Given the description of an element on the screen output the (x, y) to click on. 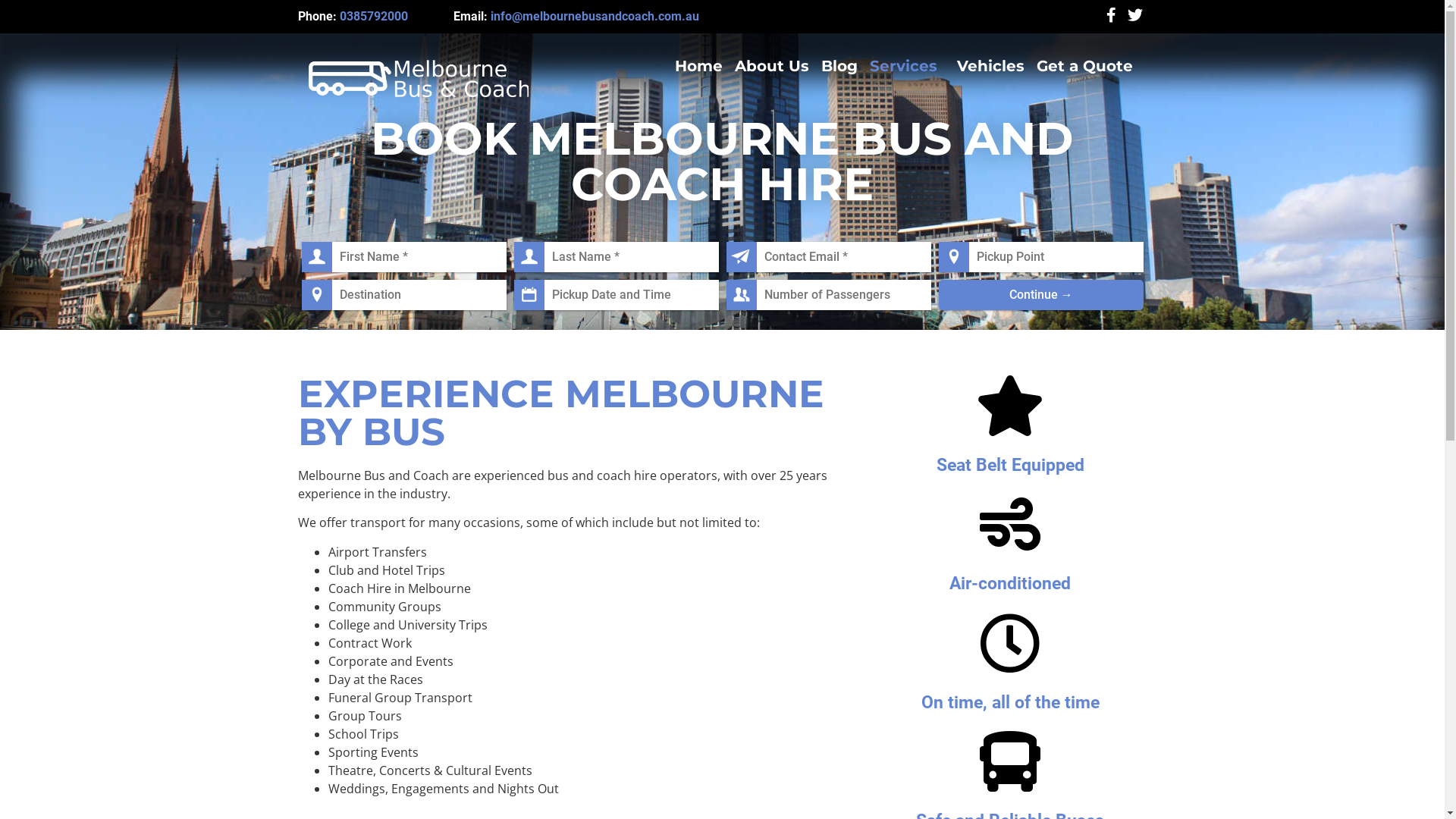
Services Element type: text (906, 65)
Vehicles Element type: text (990, 65)
About Us Element type: text (771, 65)
Blog Element type: text (839, 65)
Home Element type: text (698, 65)
info@melbournebusandcoach.com.au Element type: text (594, 16)
Get a Quote Element type: text (1084, 65)
0385792000 Element type: text (373, 16)
